Given the description of an element on the screen output the (x, y) to click on. 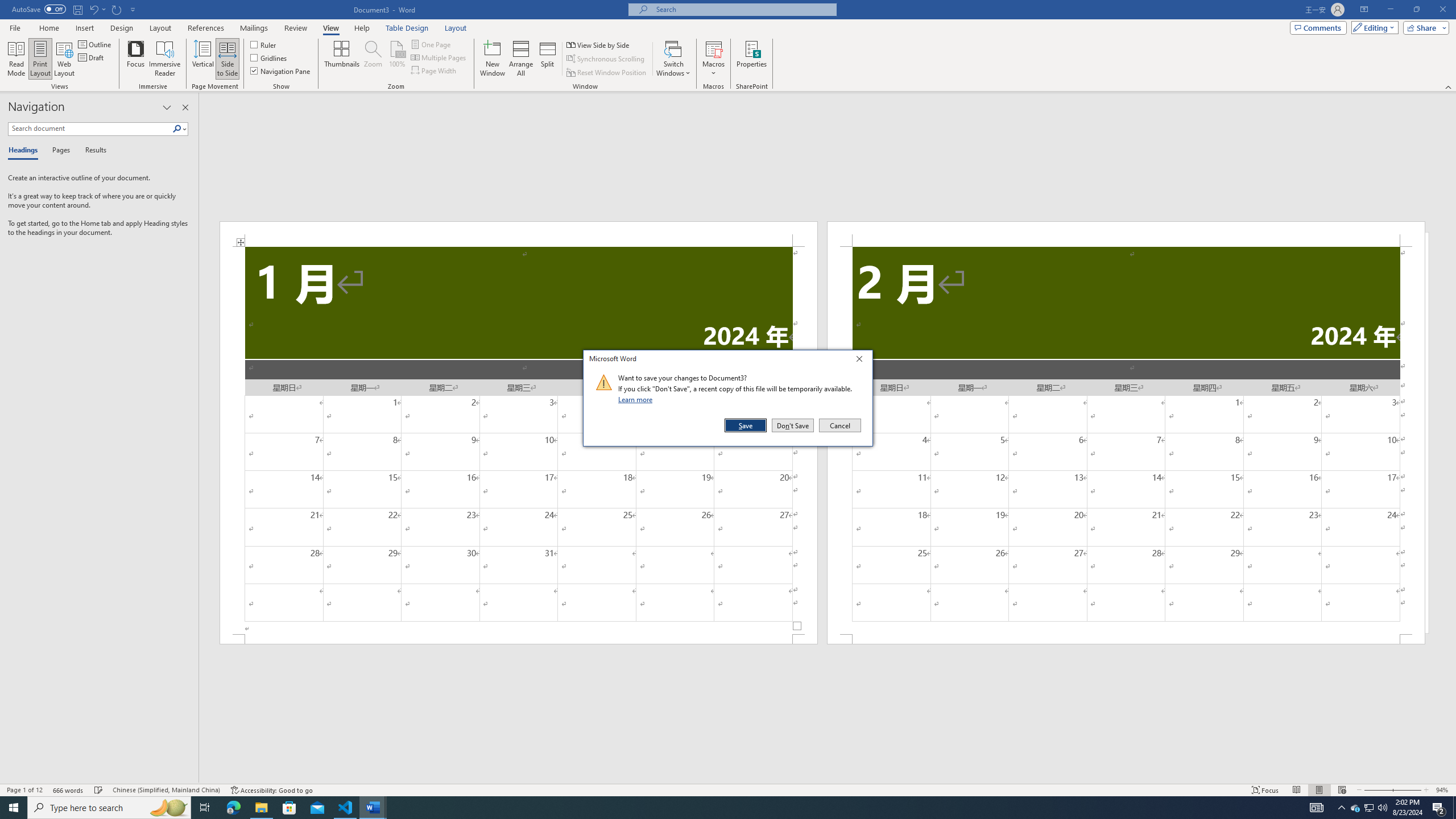
Focus (135, 58)
Running applications (717, 807)
Footer -Section 2- (1126, 638)
